Given the description of an element on the screen output the (x, y) to click on. 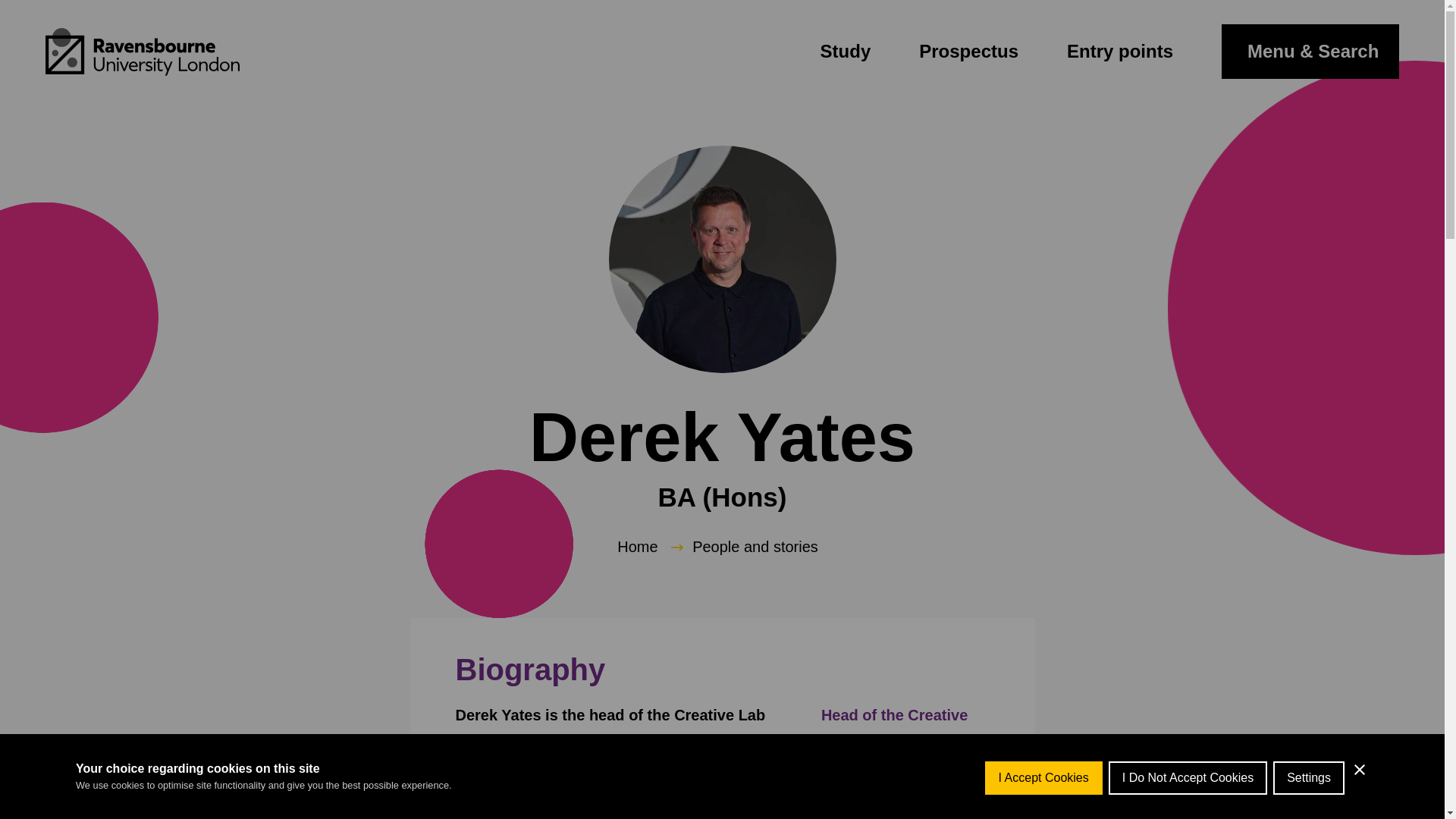
Prospectus (967, 50)
Entry points (1120, 50)
Settings (1307, 805)
Visit homepage (142, 51)
I Do Not Accept Cookies (1187, 811)
Study (845, 50)
